Given the description of an element on the screen output the (x, y) to click on. 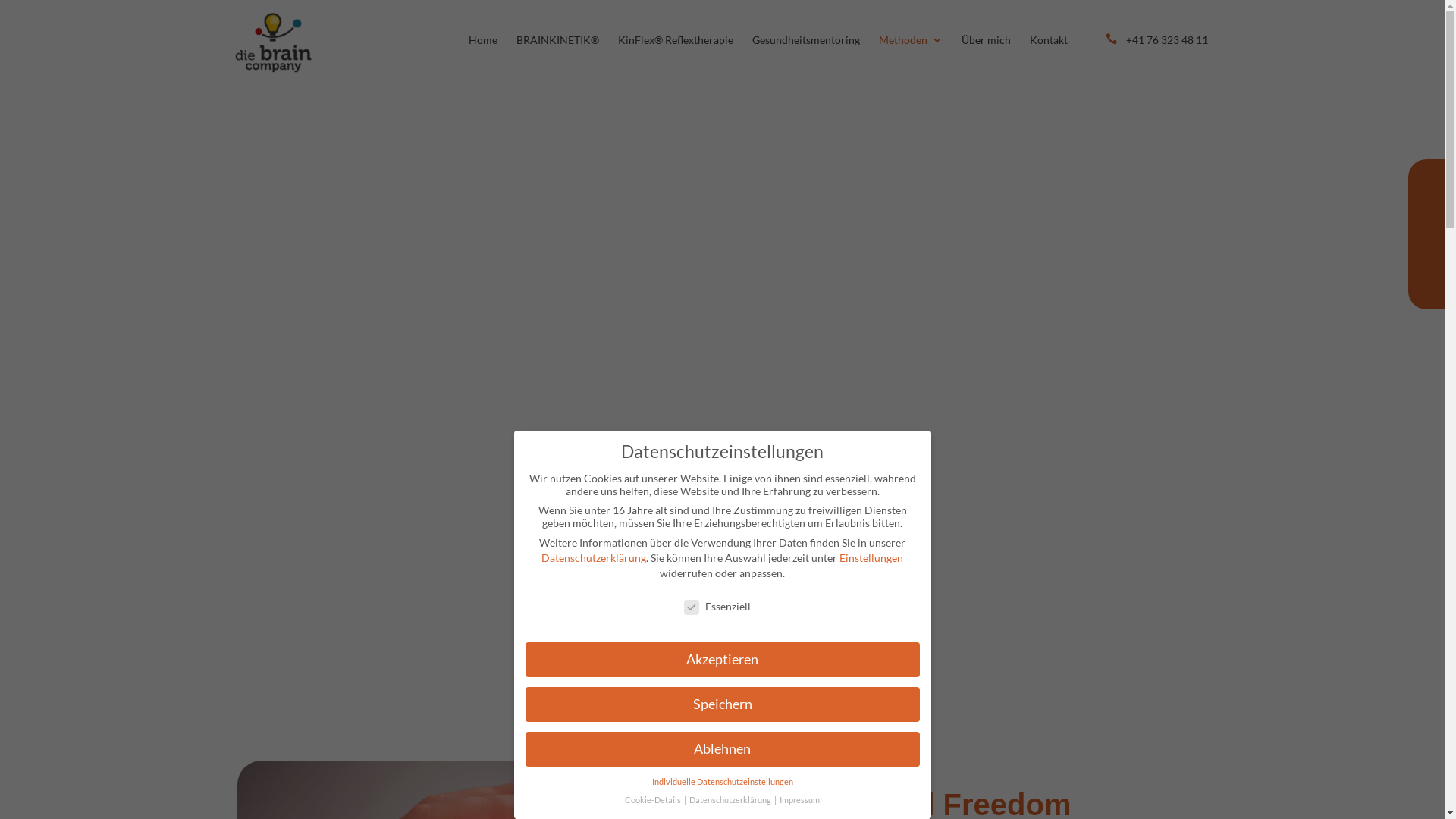
Folge auf  Element type: hover (1429, 282)
Akzeptieren Element type: text (721, 659)
Ablehnen Element type: text (721, 748)
Folge auf  Element type: hover (1429, 185)
+41 76 323 48 11 Element type: text (1146, 56)
Cookie-Details Element type: text (653, 799)
Folge auf  Element type: hover (1429, 234)
Home Element type: text (482, 56)
Kontakt Element type: text (1048, 56)
Speichern Element type: text (721, 704)
Einstellungen Element type: text (871, 557)
Gesundheitsmentoring Element type: text (805, 56)
Methoden Element type: text (909, 56)
Individuelle Datenschutzeinstellungen Element type: text (722, 781)
Impressum Element type: text (799, 799)
